Given the description of an element on the screen output the (x, y) to click on. 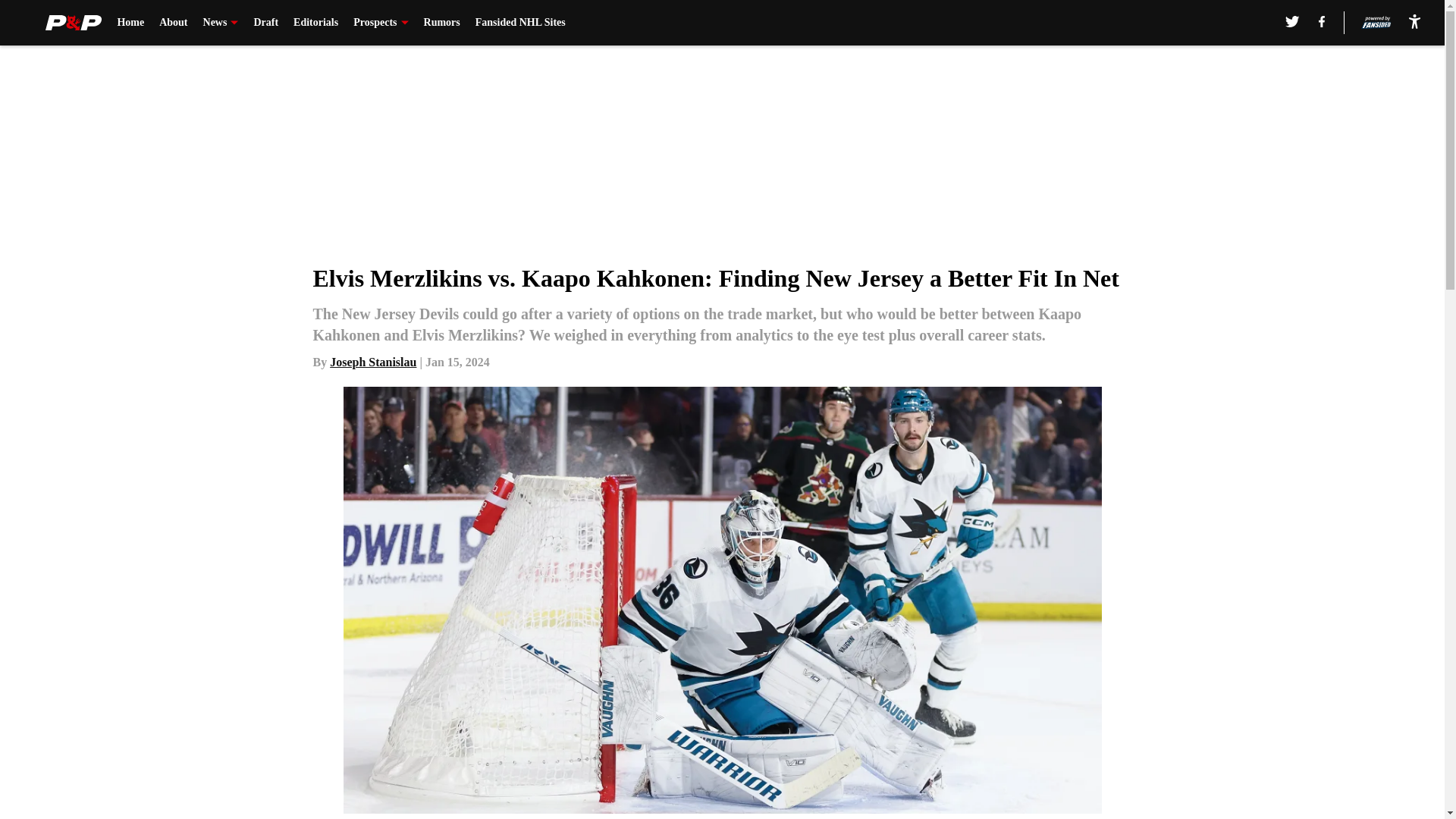
Editorials (315, 22)
Fansided NHL Sites (521, 22)
About (172, 22)
Rumors (441, 22)
Home (130, 22)
Draft (265, 22)
Joseph Stanislau (373, 361)
